Given the description of an element on the screen output the (x, y) to click on. 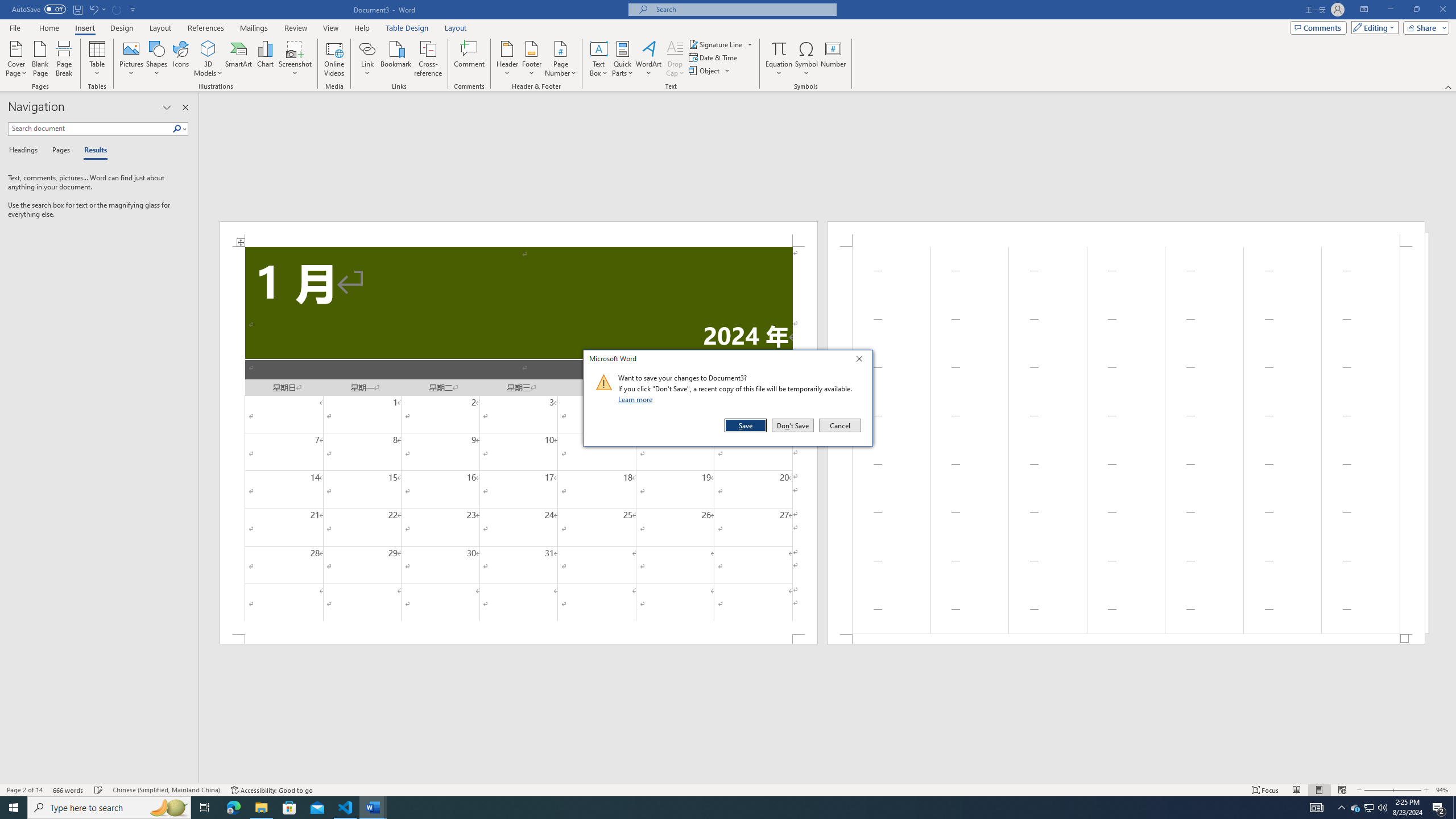
3D Models (208, 58)
Link (367, 48)
Don't Save (792, 425)
Microsoft Edge (233, 807)
Online Videos... (333, 58)
